Given the description of an element on the screen output the (x, y) to click on. 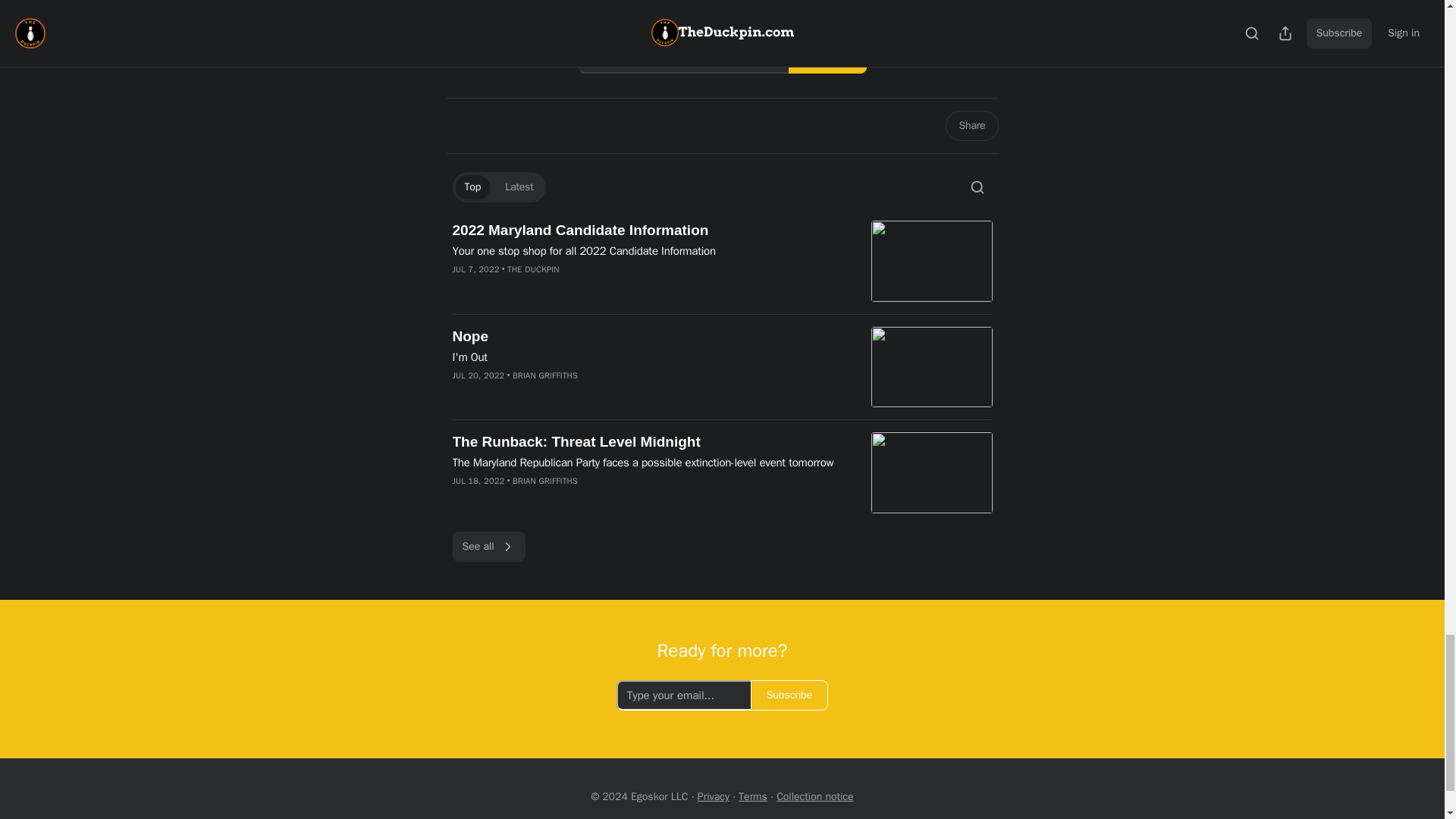
2022 Maryland Candidate Information (651, 230)
Top (471, 187)
Your one stop shop for all 2022 Candidate Information (651, 250)
Share (970, 125)
Latest (518, 187)
Subscribe (827, 58)
